Given the description of an element on the screen output the (x, y) to click on. 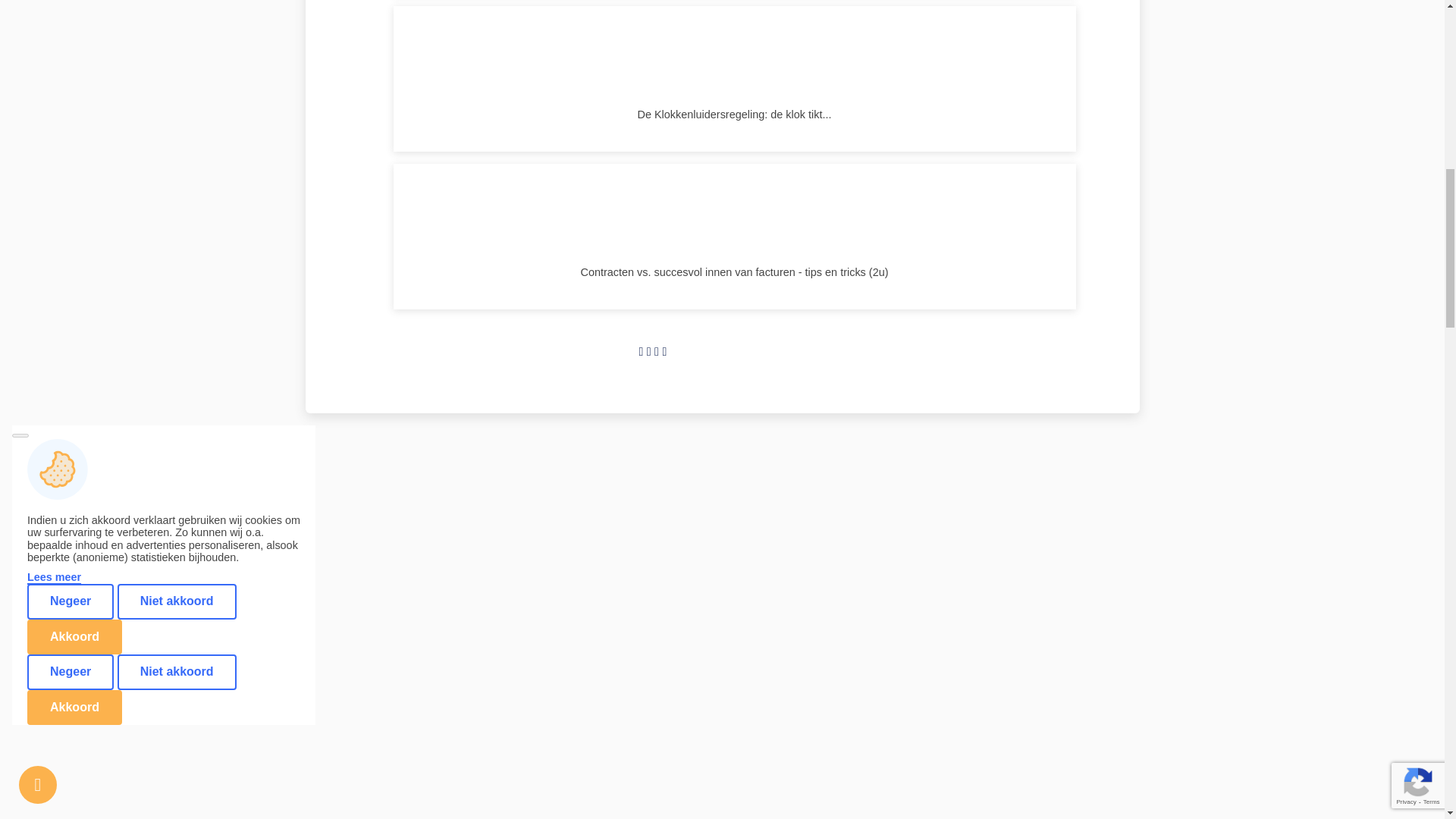
De Klokkenluidersregeling: de klok tikt... (734, 78)
